Given the description of an element on the screen output the (x, y) to click on. 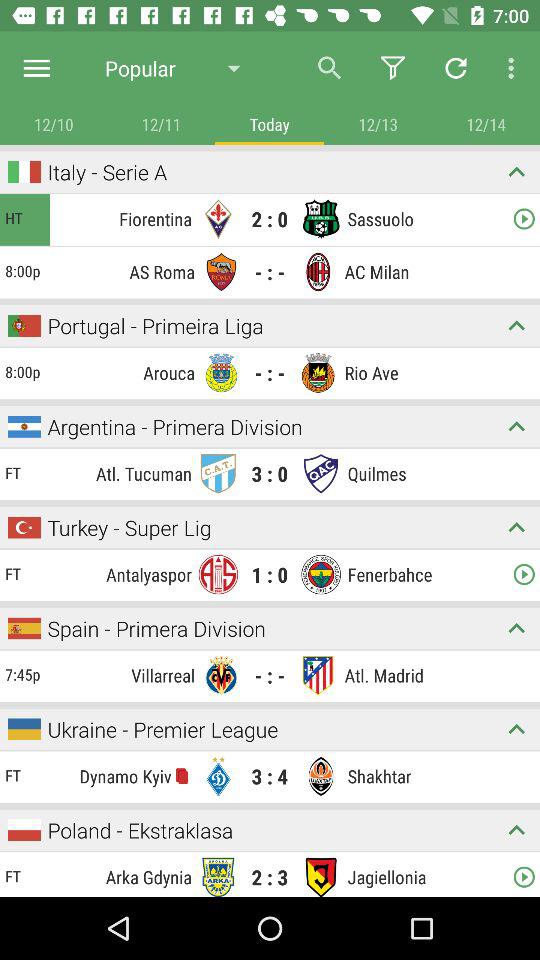
menu bar (36, 68)
